Given the description of an element on the screen output the (x, y) to click on. 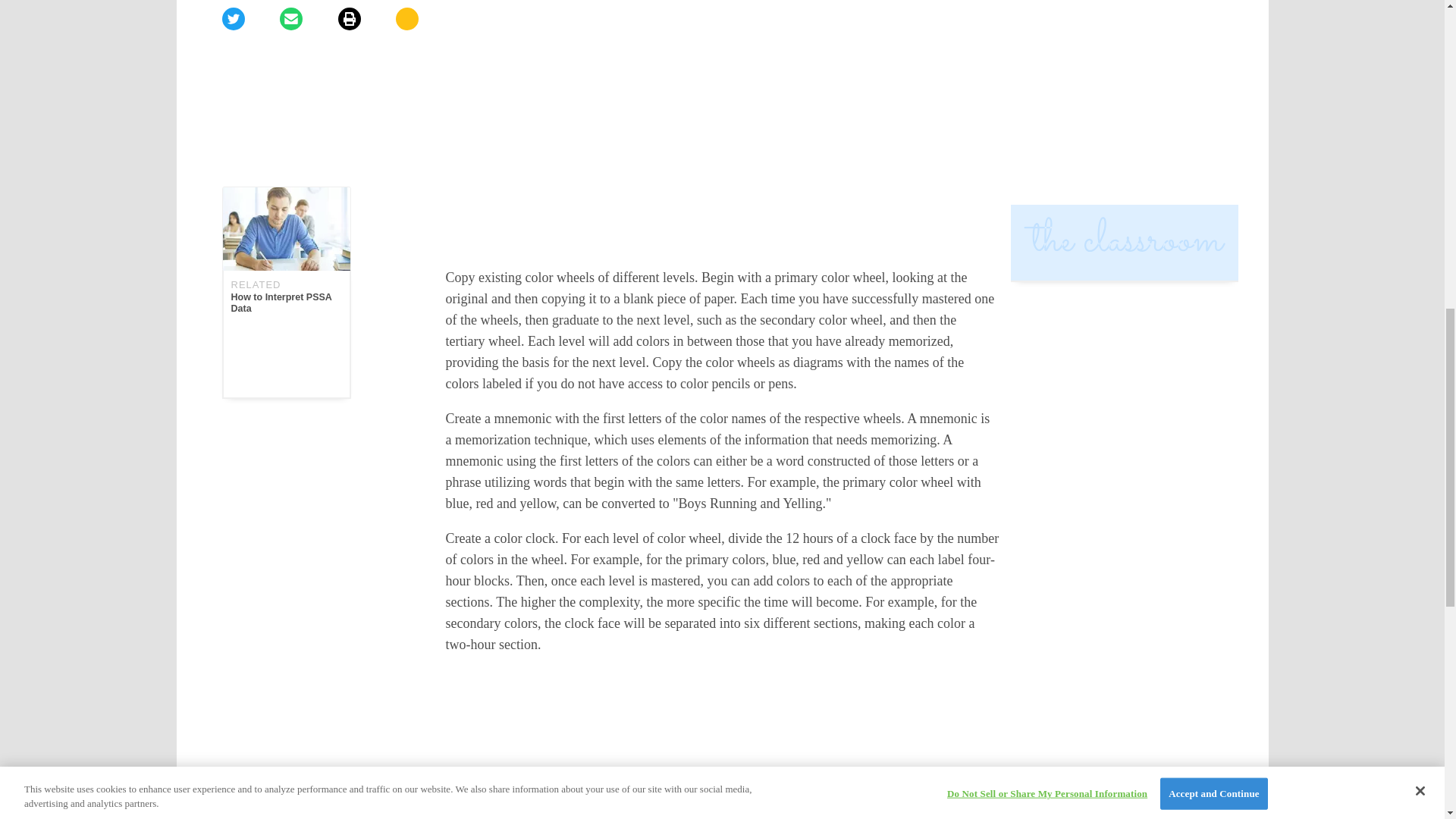
Advertisement (721, 145)
3rd party ad content (1123, 81)
3rd party ad content (721, 12)
3rd party ad content (721, 744)
